Given the description of an element on the screen output the (x, y) to click on. 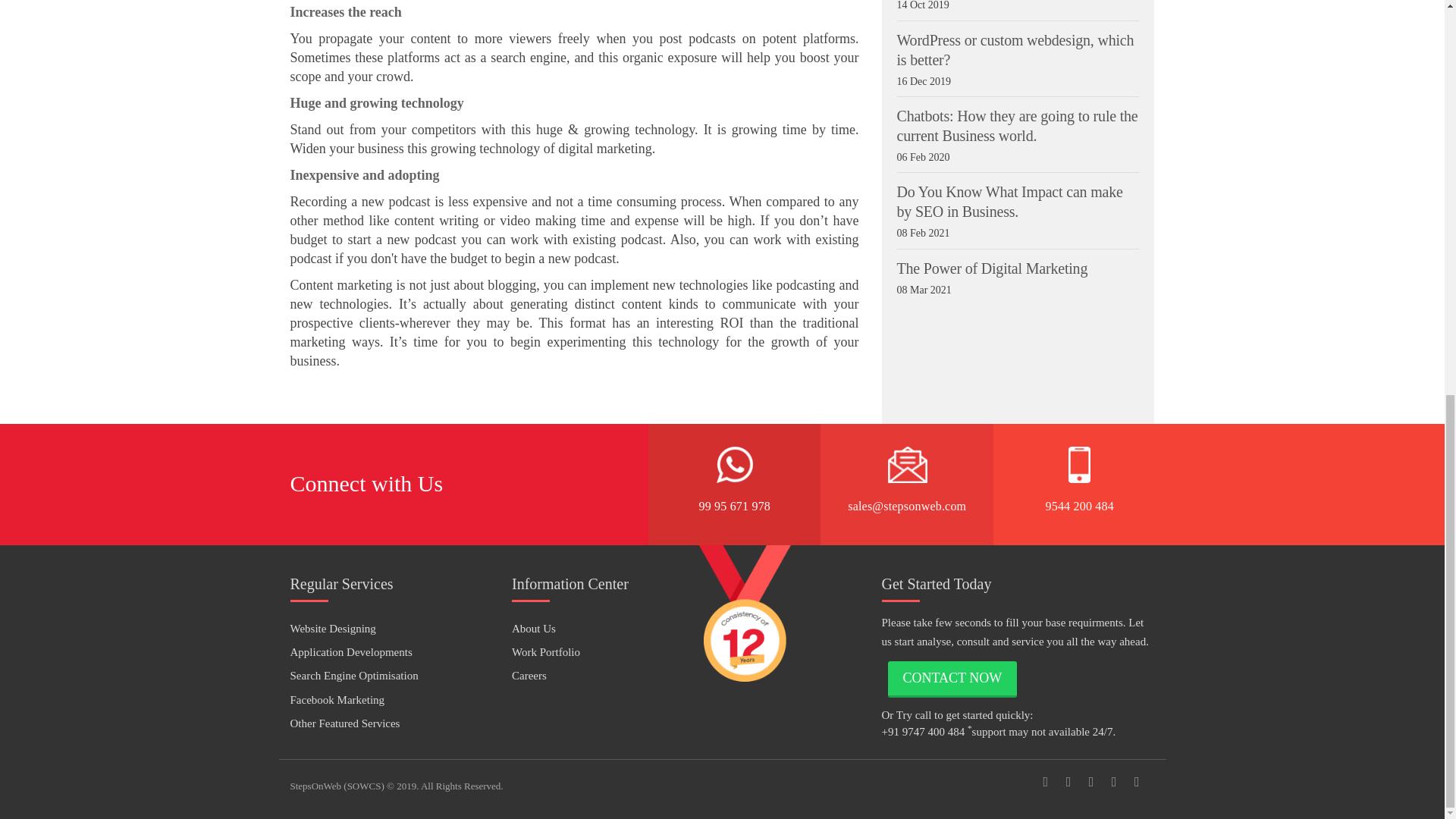
Facebook Marketing (336, 699)
Do You Know What Impact can make by SEO in Business. (1009, 201)
Application Developments (350, 652)
Other Featured Services (343, 723)
The Power of Digital Marketing (991, 268)
WordPress or custom webdesign, which is better? (1015, 49)
Website Designing (332, 628)
Search Engine Optimisation (353, 675)
